Given the description of an element on the screen output the (x, y) to click on. 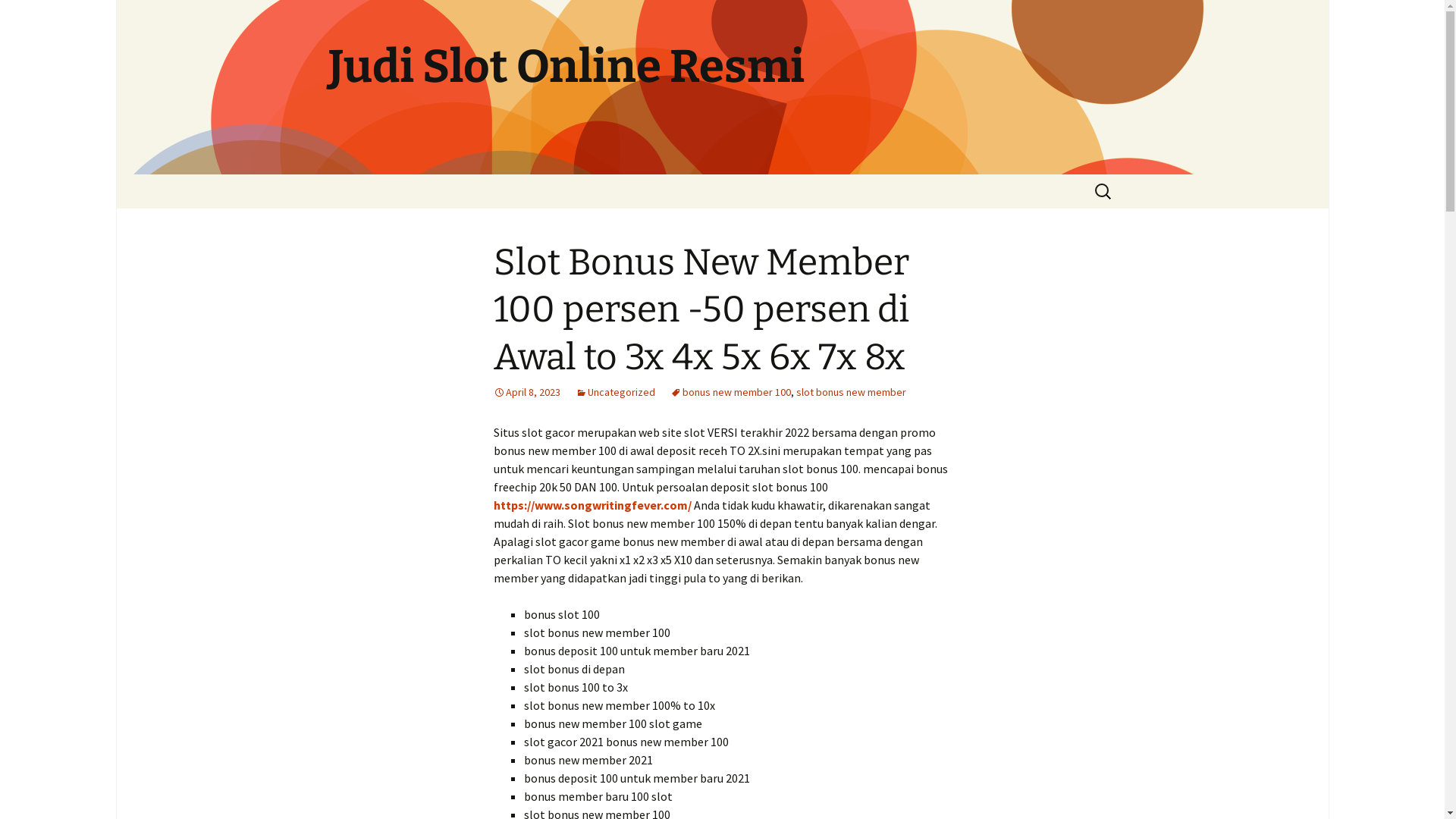
bonus new member 100 Element type: text (730, 391)
April 8, 2023 Element type: text (525, 391)
https://www.songwritingfever.com/ Element type: text (591, 504)
Cari Element type: text (18, 16)
Uncategorized Element type: text (614, 391)
Judi Slot Online Resmi Element type: text (721, 87)
Cari Element type: text (26, 15)
slot bonus new member Element type: text (851, 391)
Langsung ke isi Element type: text (312, 173)
